Given the description of an element on the screen output the (x, y) to click on. 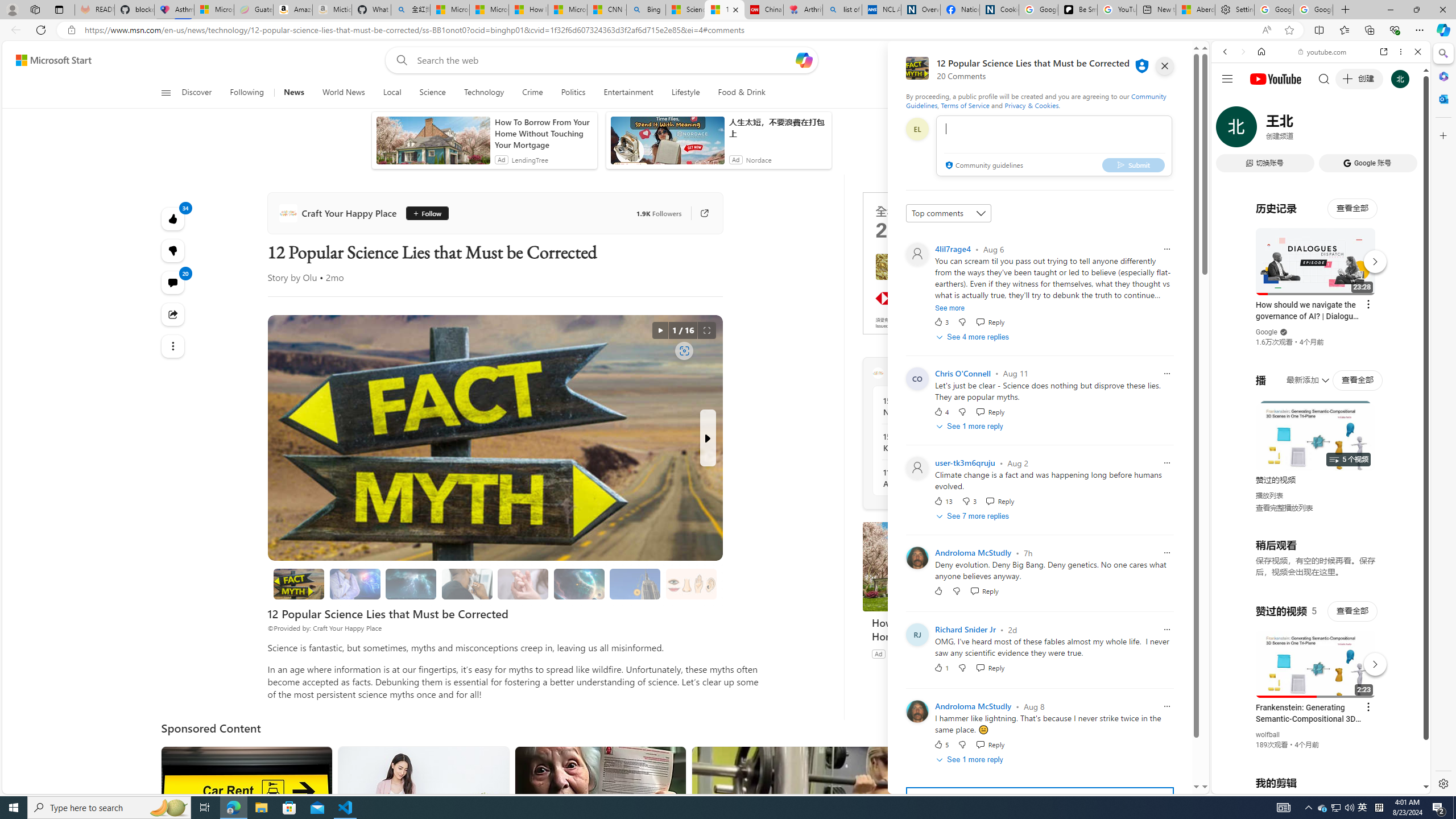
Androloma McStudly (972, 706)
